Given the description of an element on the screen output the (x, y) to click on. 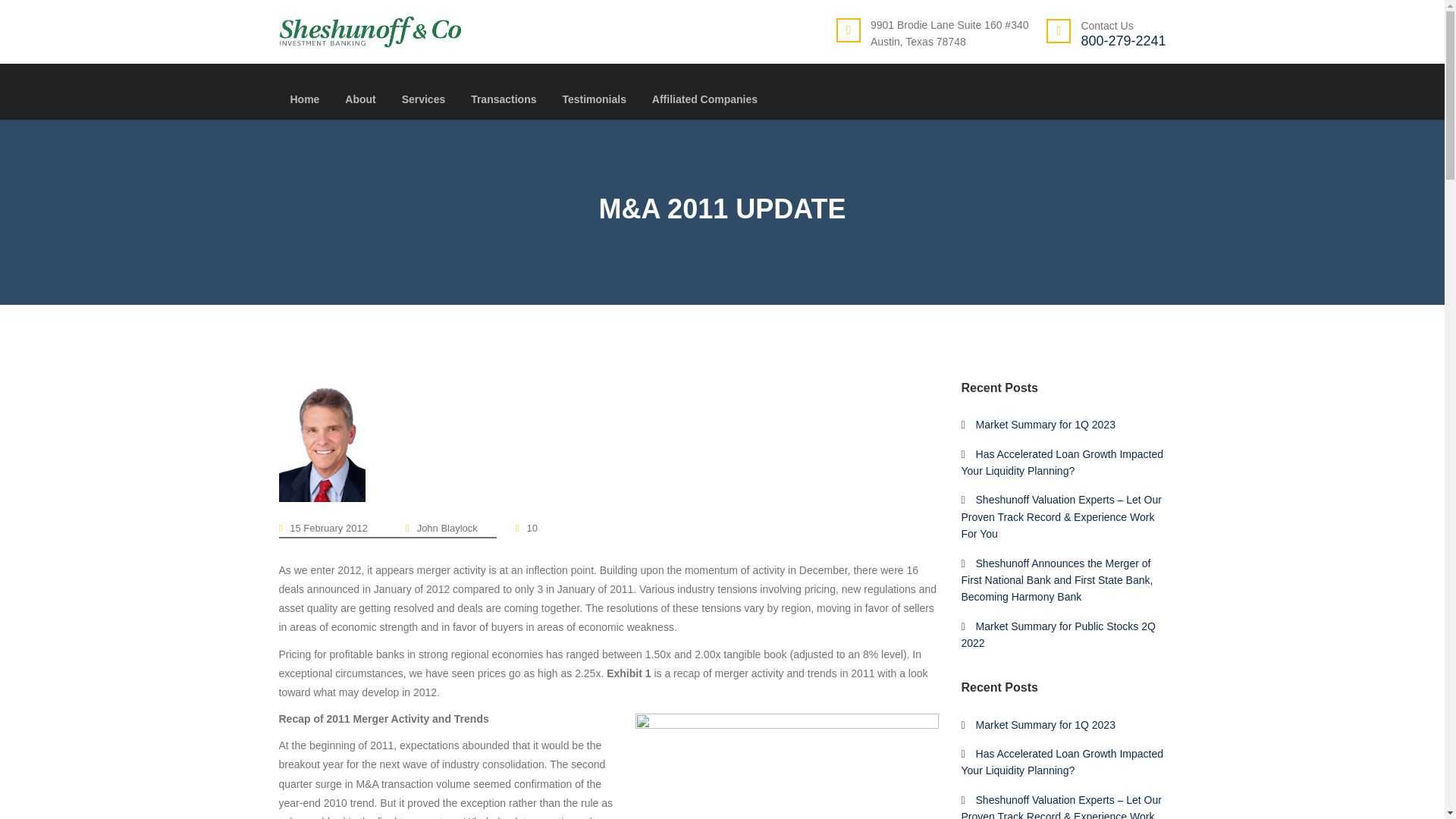
Testimonials (594, 106)
About (360, 106)
800-279-2241 (1123, 40)
Home (303, 106)
Exhibit 1 (786, 766)
Transactions (502, 106)
Services (423, 106)
Affiliated Companies (704, 106)
